Given the description of an element on the screen output the (x, y) to click on. 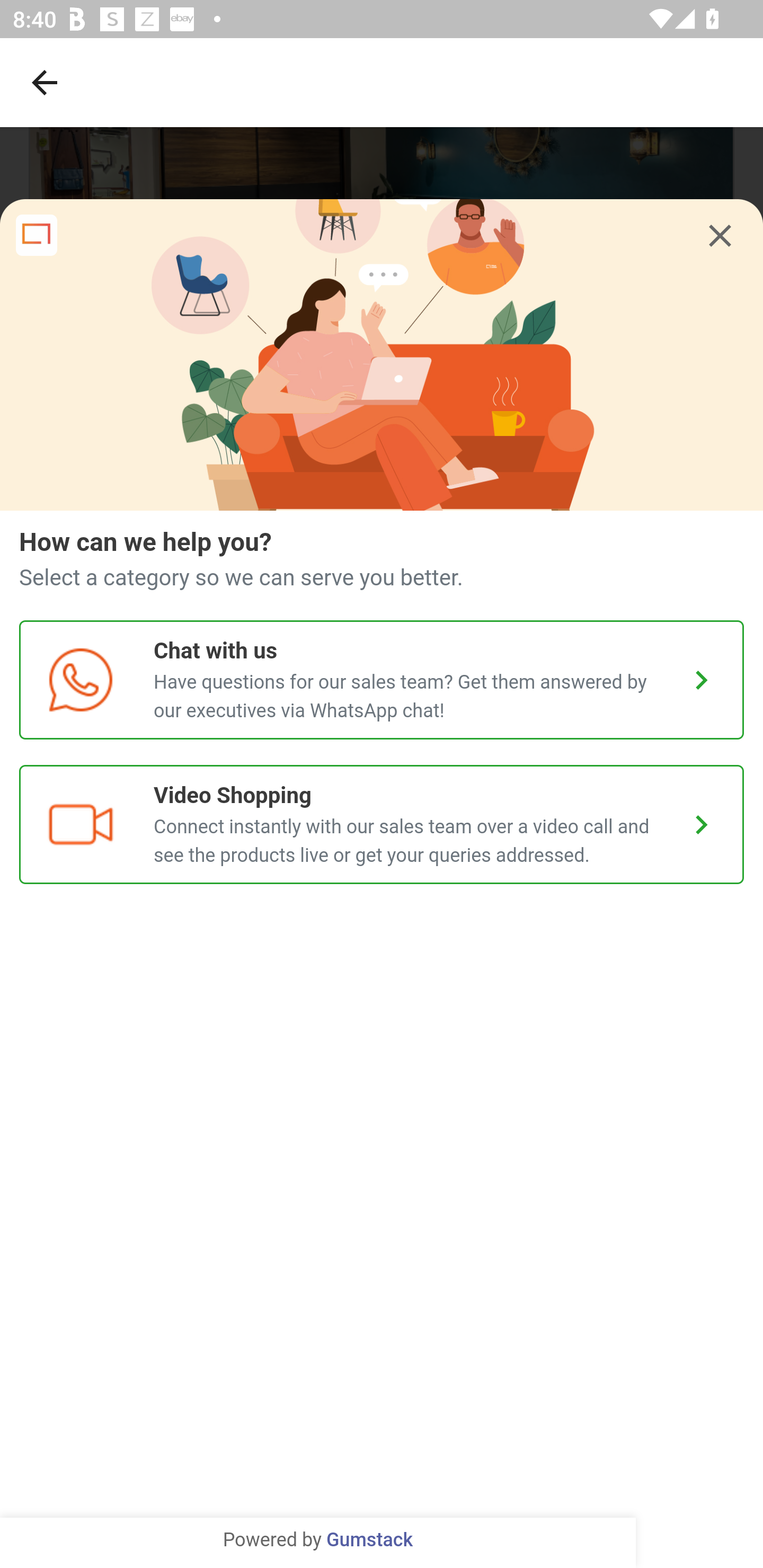
Navigate up (44, 82)
clear (720, 235)
Gumstack (369, 1540)
